Given the description of an element on the screen output the (x, y) to click on. 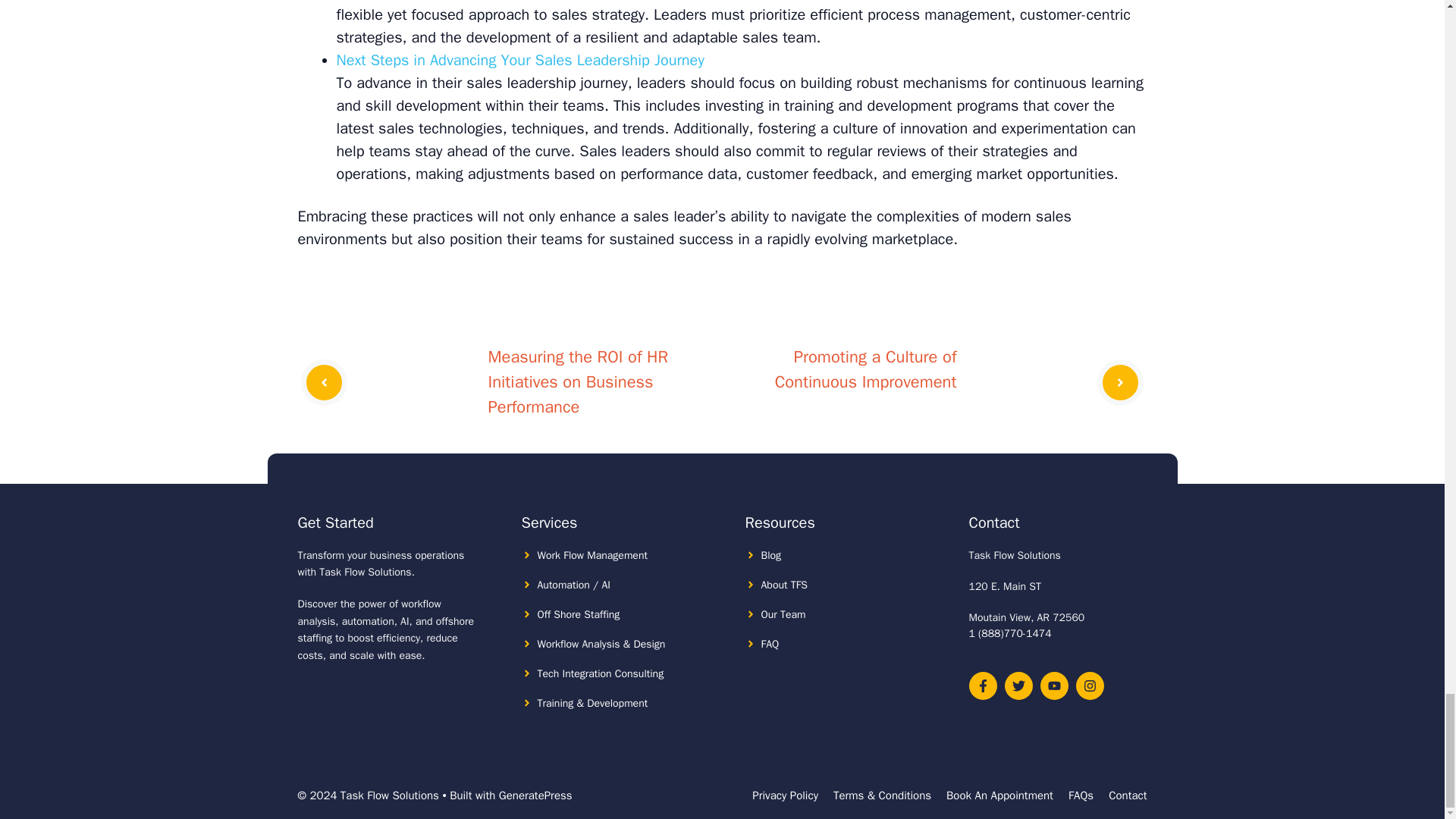
Our Team (783, 614)
Measuring the ROI of HR Initiatives on Business Performance (577, 381)
Work Flow Management (591, 554)
Promoting a Culture of Continuous Improvement (865, 369)
Tech Integration Consulting (600, 673)
FAQ (769, 644)
Blog (771, 554)
About TFS (784, 584)
sales leadership journey (546, 82)
Off Shore Staffing (578, 614)
customer-centric strategies (733, 25)
